Given the description of an element on the screen output the (x, y) to click on. 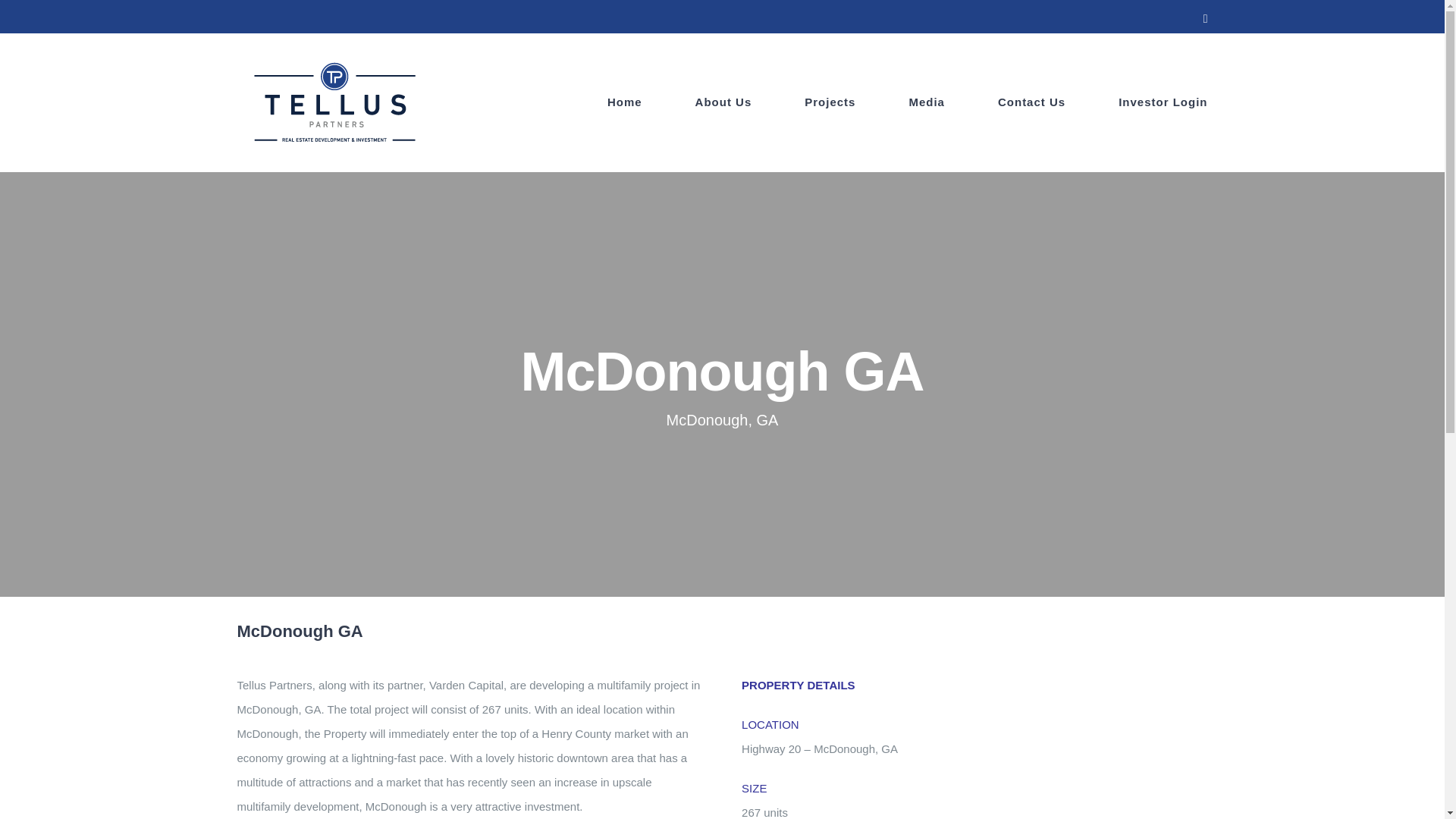
Projects (830, 101)
LinkedIn (1206, 19)
About Us (723, 101)
Media (926, 101)
Home (624, 101)
Contact Us (1031, 101)
Investor Login (1162, 101)
LinkedIn (1206, 19)
